Given the description of an element on the screen output the (x, y) to click on. 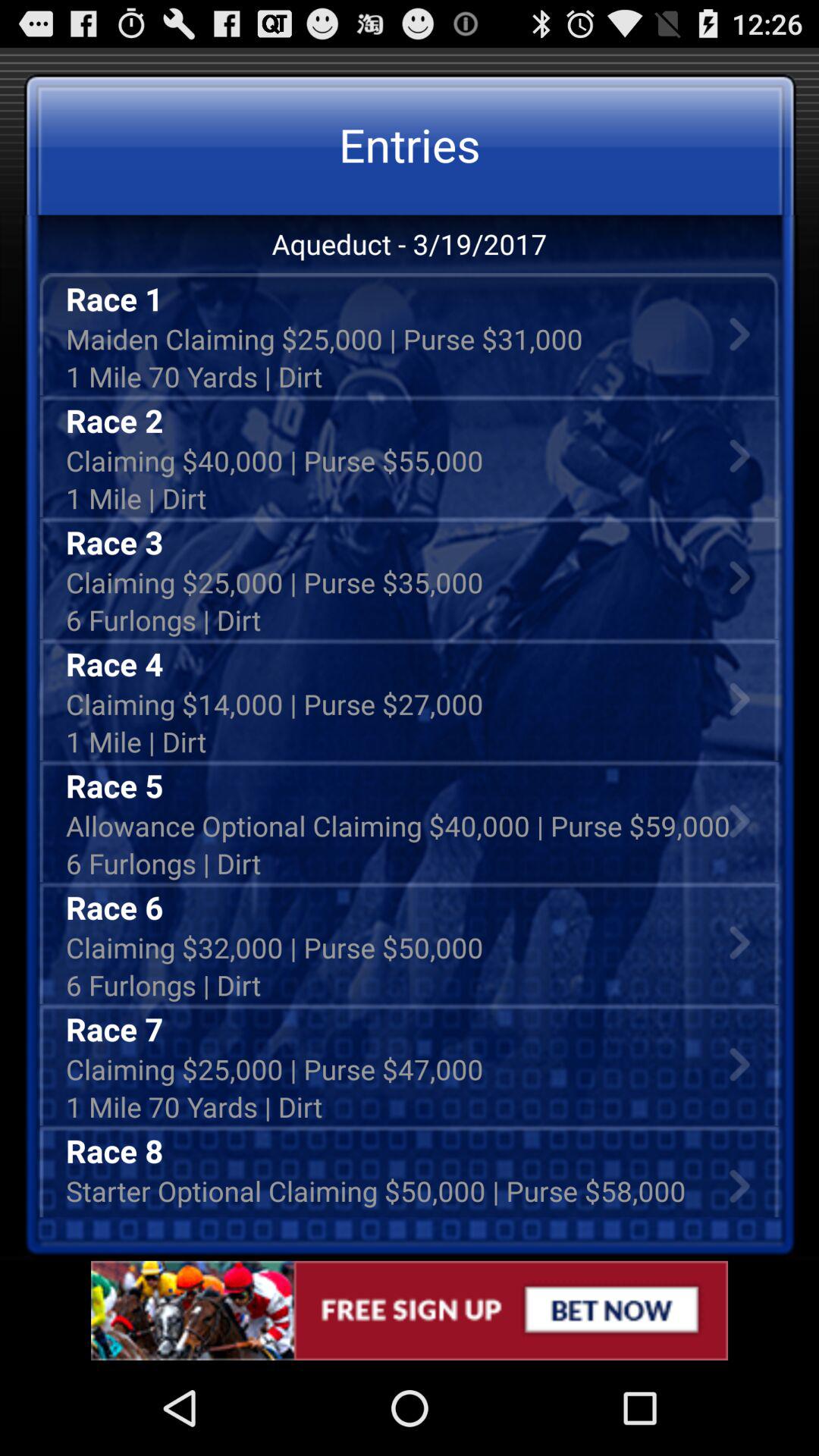
click on the second arrow from top (739, 455)
click on the arrow icon beside race 2 text (739, 455)
